Given the description of an element on the screen output the (x, y) to click on. 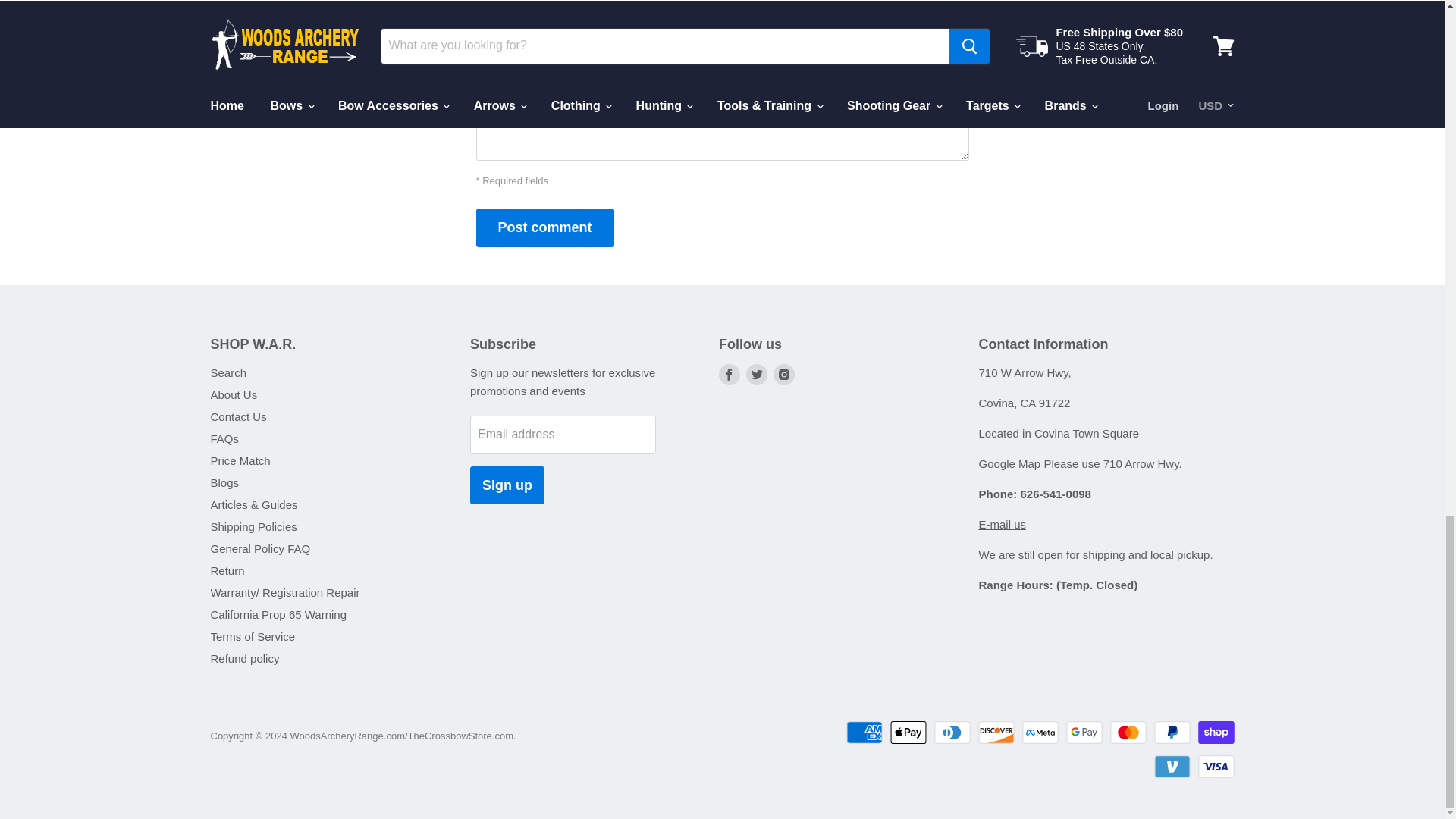
Twitter (756, 374)
Facebook (729, 374)
Instagram (783, 374)
Contact Us (1002, 523)
